Given the description of an element on the screen output the (x, y) to click on. 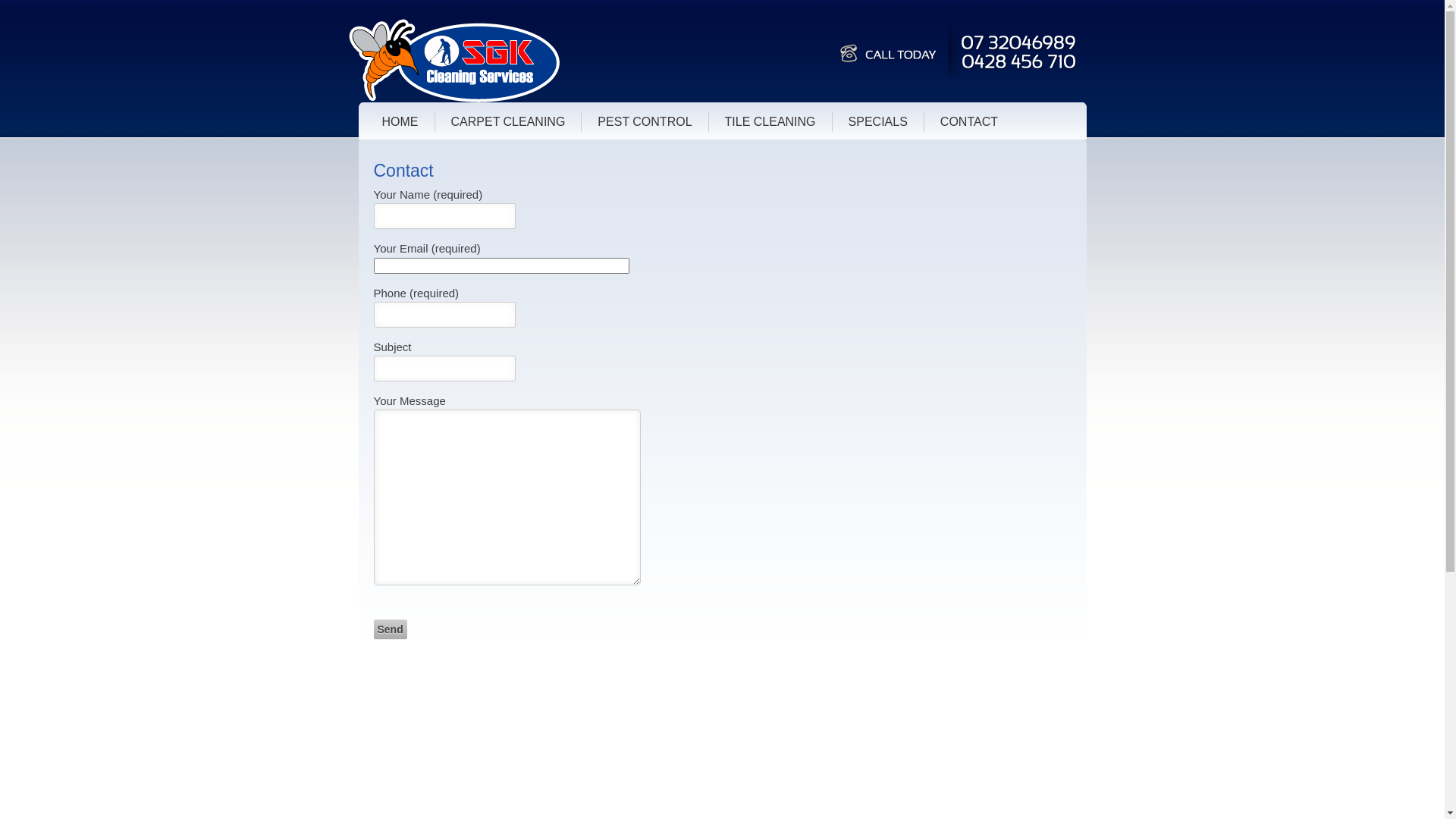
CARPET CLEANING Element type: text (507, 121)
TILE CLEANING Element type: text (769, 121)
HOME Element type: text (400, 121)
CONTACT Element type: text (968, 121)
SPECIALS Element type: text (877, 121)
PEST CONTROL Element type: text (644, 121)
Send Element type: text (389, 629)
